Given the description of an element on the screen output the (x, y) to click on. 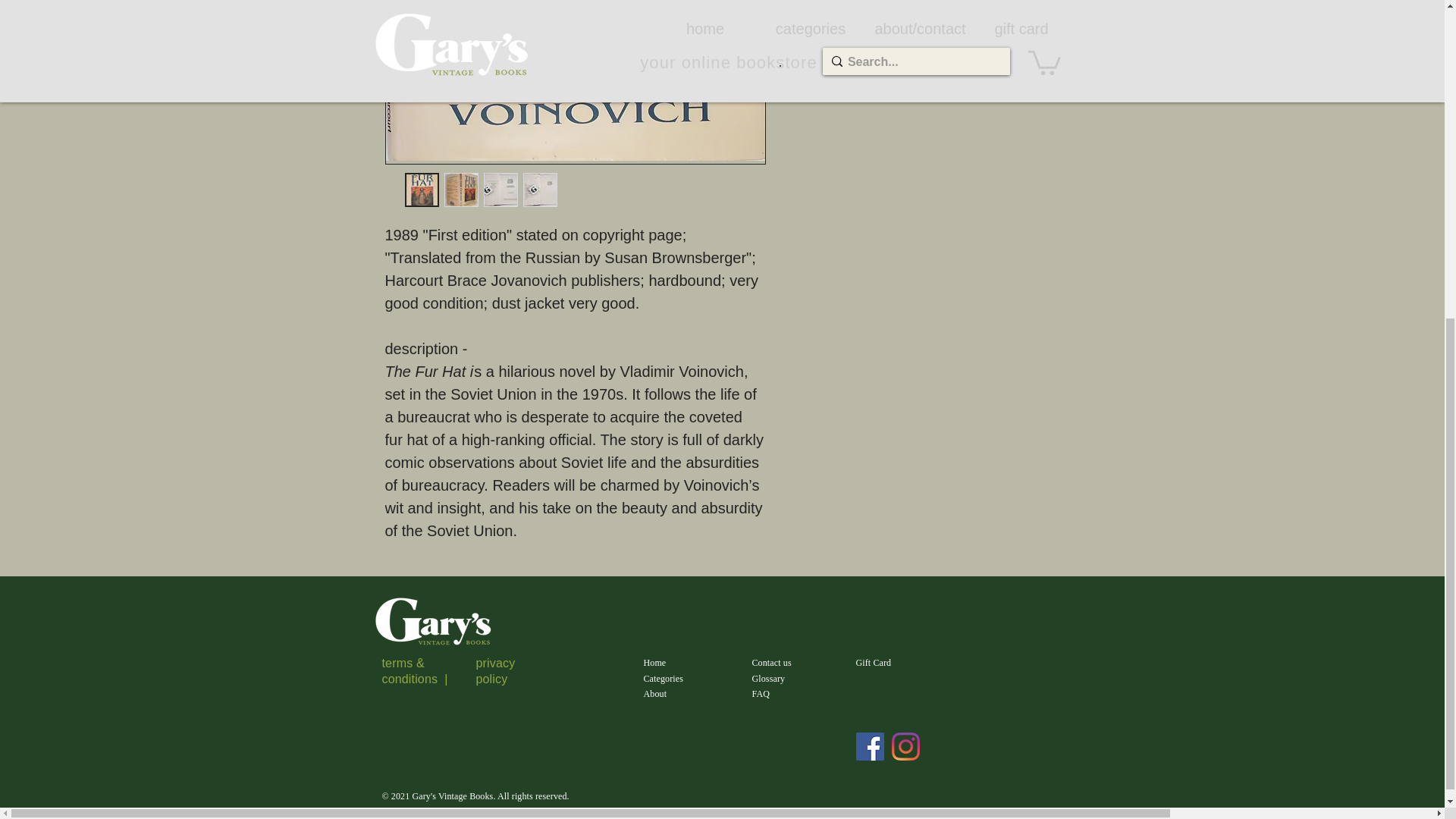
Contact us (772, 662)
About (654, 693)
privacy policy (495, 670)
Categories (662, 678)
Glossary (769, 678)
Home (654, 662)
Gift Card (873, 662)
FAQ (761, 693)
